Given the description of an element on the screen output the (x, y) to click on. 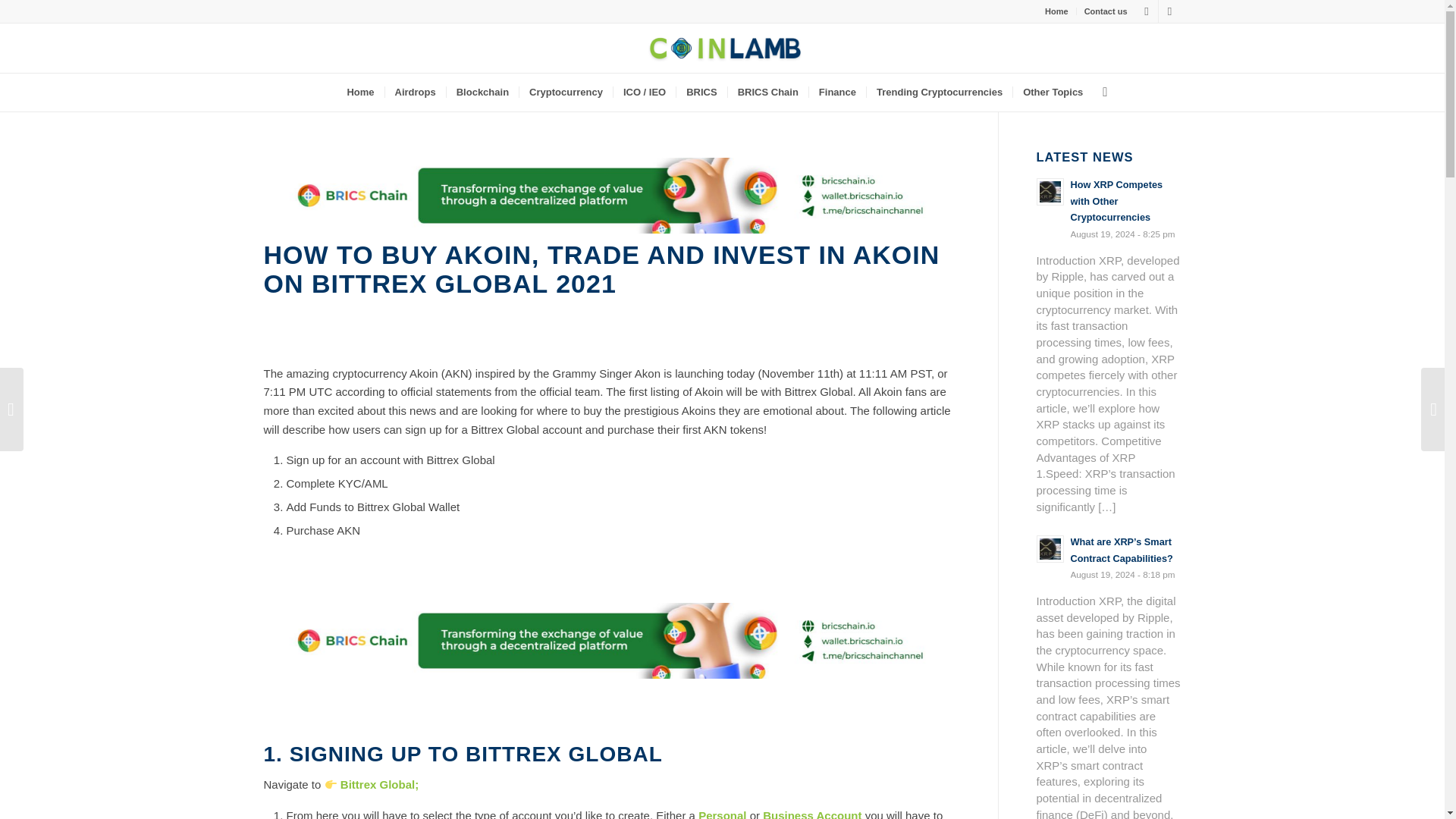
Trending Cryptocurrencies (938, 92)
Airdrops (414, 92)
Cryptocurrency (565, 92)
Home (360, 92)
Finance (837, 92)
Contact us (1105, 11)
Dribbble (1169, 11)
Twitter (1146, 11)
Other Topics (1052, 92)
BRICS (700, 92)
